Given the description of an element on the screen output the (x, y) to click on. 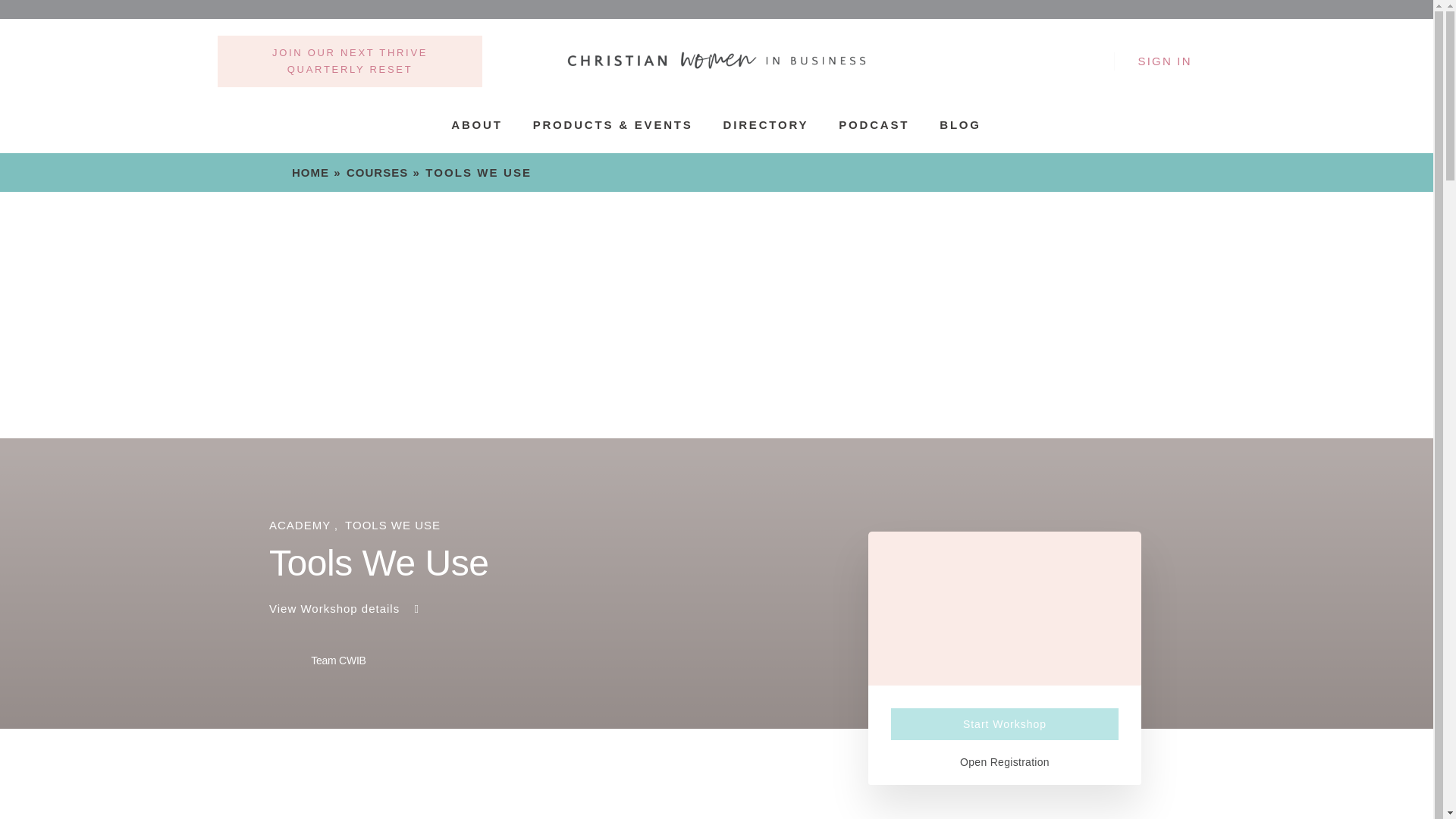
COURSES (376, 172)
SIGN IN (1163, 61)
HOME (310, 172)
JOIN OUR NEXT THRIVE QUARTERLY RESET (348, 61)
Team CWIB (317, 661)
PODCAST (874, 124)
DIRECTORY (765, 124)
ABOUT (475, 124)
BLOG (959, 124)
View Workshop details (345, 608)
